Given the description of an element on the screen output the (x, y) to click on. 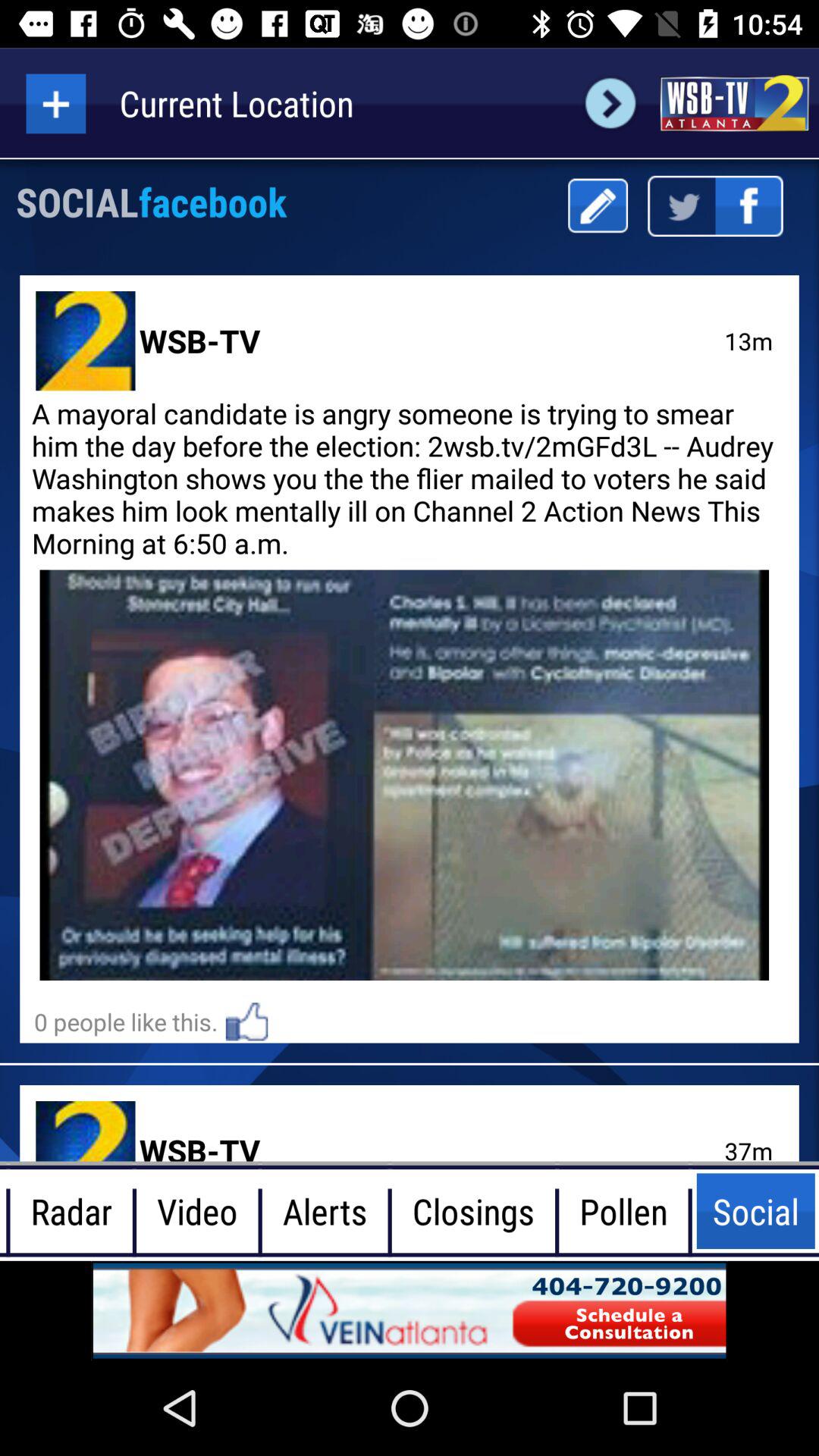
plus current location (55, 103)
